Given the description of an element on the screen output the (x, y) to click on. 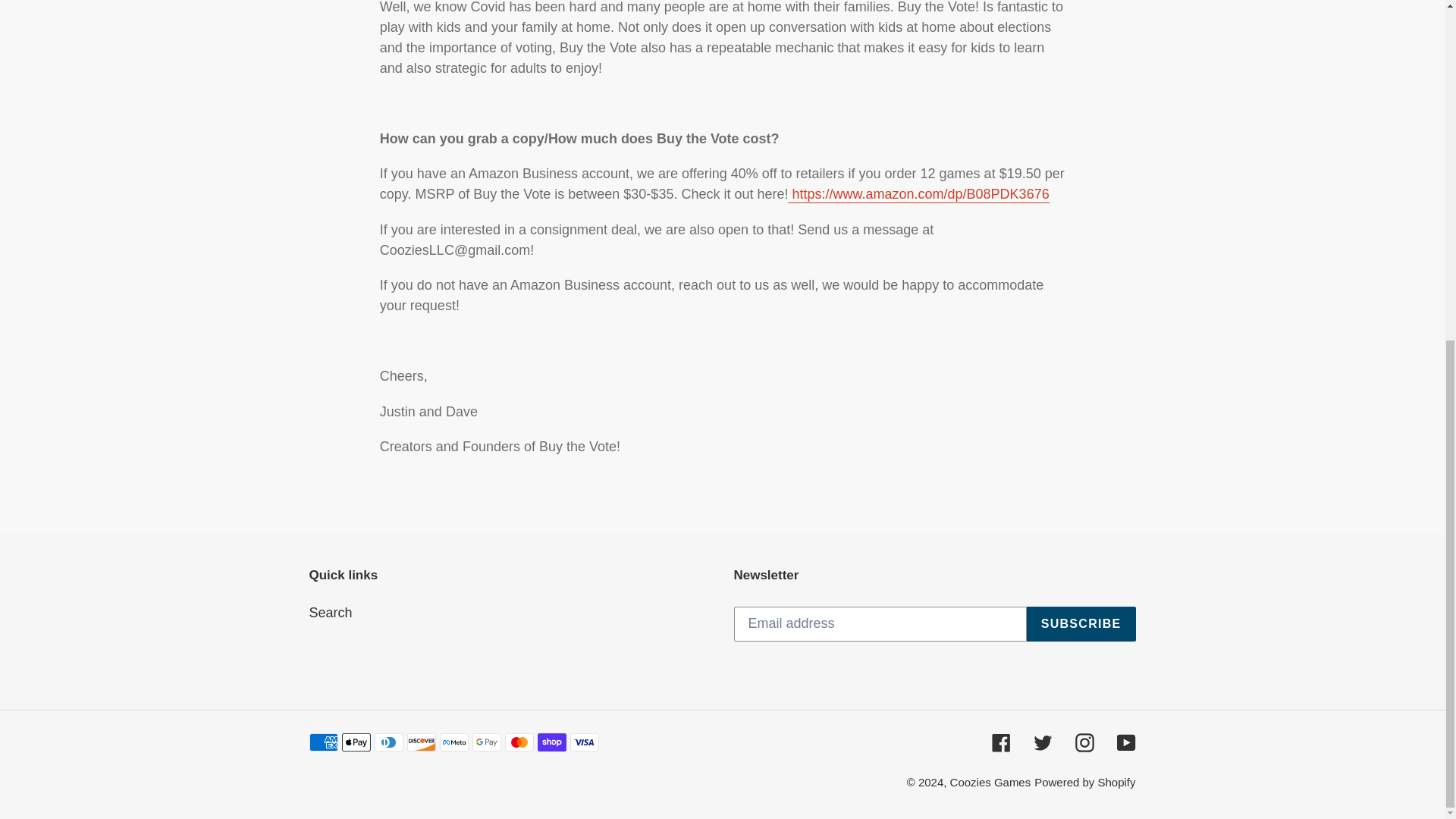
Twitter (1041, 742)
Facebook (1000, 742)
Instagram (1084, 742)
YouTube (1125, 742)
Coozies Games (990, 781)
SUBSCRIBE (1080, 623)
Search (330, 612)
Powered by Shopify (1084, 781)
